Given the description of an element on the screen output the (x, y) to click on. 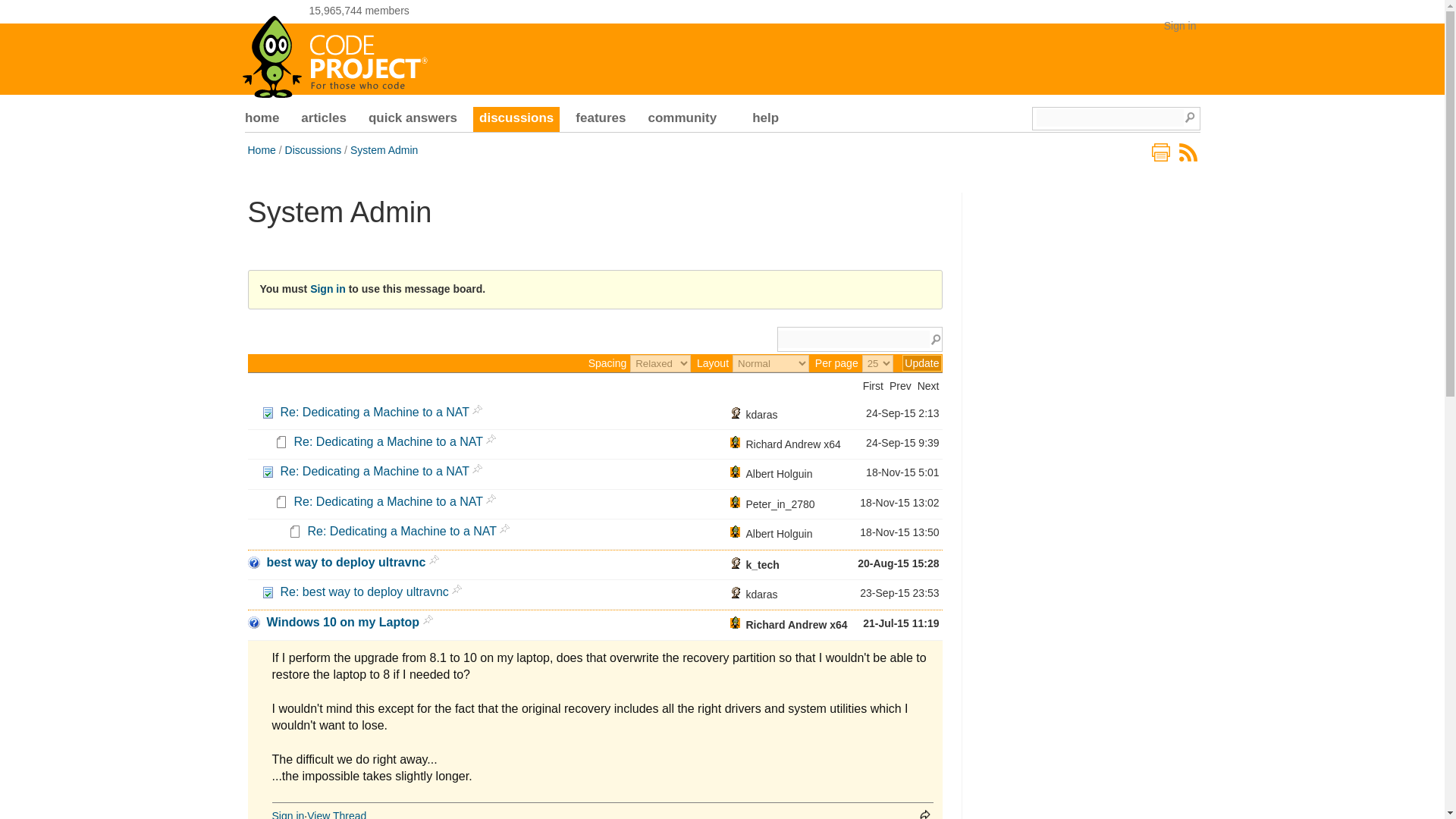
Answer (266, 412)
CodeProject (335, 51)
quick answers (412, 119)
Sign in (1179, 25)
articles (323, 119)
General (280, 441)
Member (735, 412)
discussions (516, 119)
home (261, 119)
Update (921, 362)
